Given the description of an element on the screen output the (x, y) to click on. 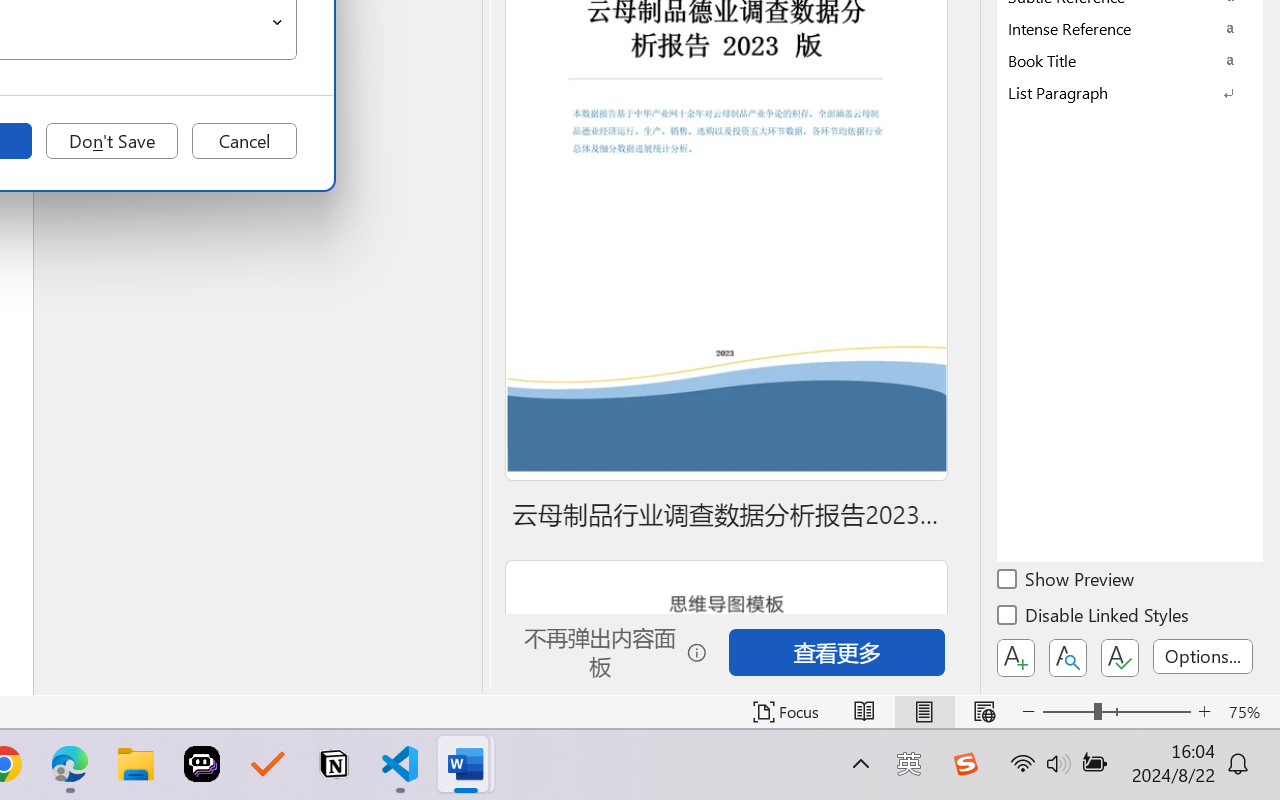
Cancel (244, 141)
Read Mode (864, 712)
Notion (333, 764)
